Given the description of an element on the screen output the (x, y) to click on. 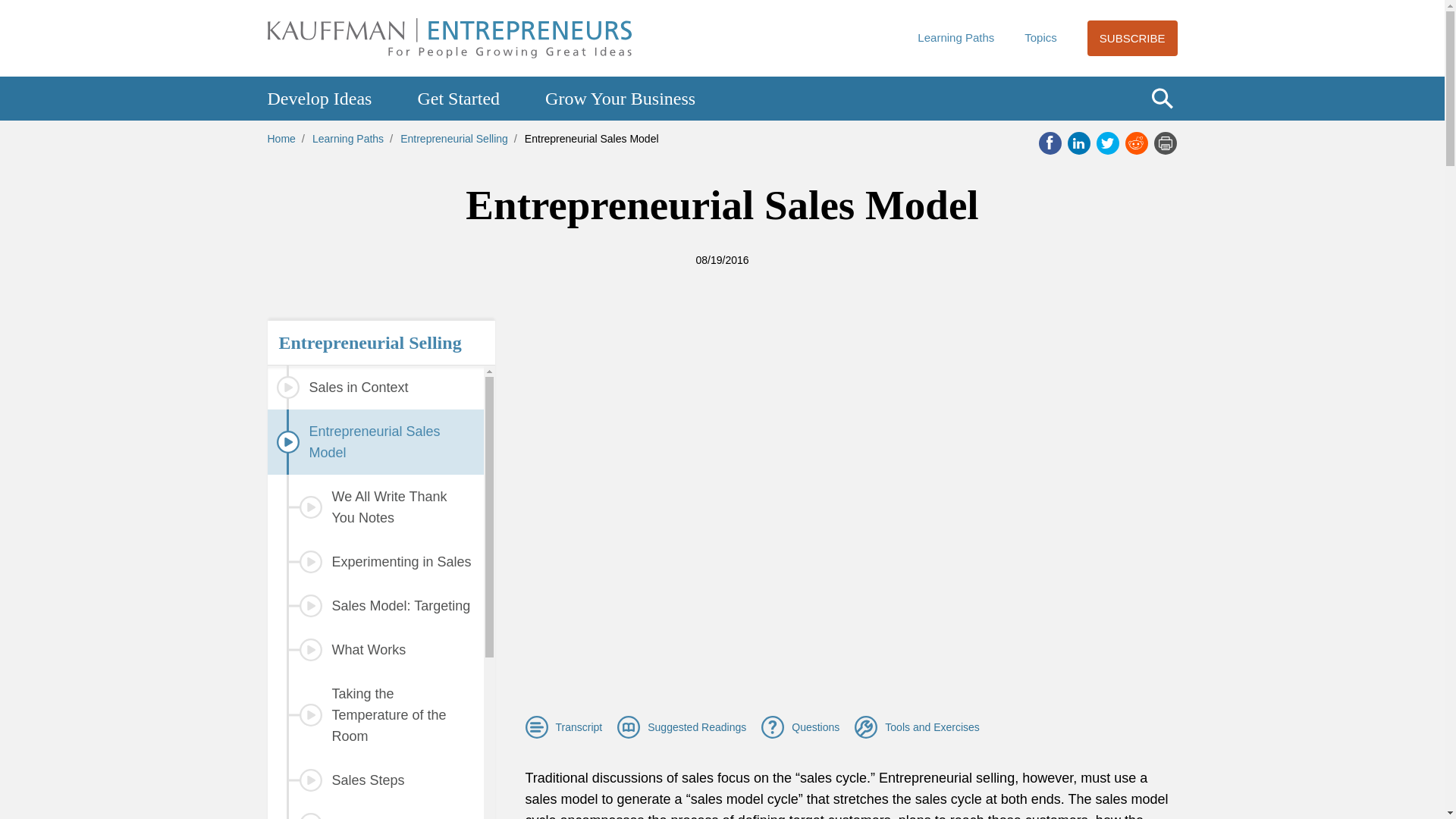
Topics (1040, 37)
Sales Steps (374, 780)
SUBSCRIBE (1132, 38)
Experimenting in Sales (374, 561)
Twitter (1107, 142)
Solving a Problem (374, 810)
Sales in Context (374, 387)
Taking the Temperature of the Room (374, 714)
Entrepreneurial Selling (454, 138)
Learning Paths (955, 37)
Home (280, 138)
What Works (374, 649)
Get Started (458, 98)
Entrepreneurial Sales Model (374, 442)
